Given the description of an element on the screen output the (x, y) to click on. 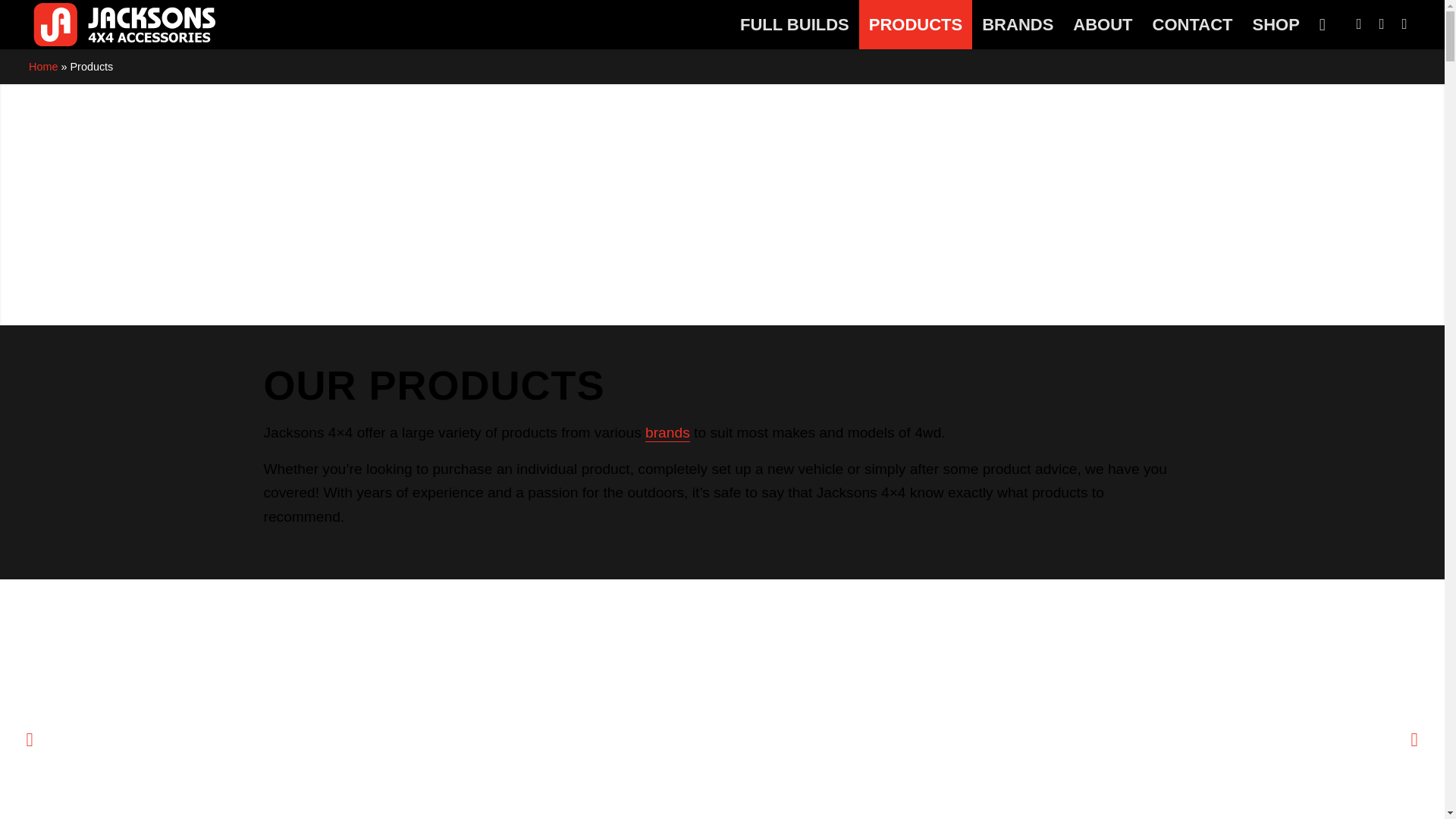
Home Element type: text (42, 66)
Instagram Element type: hover (1381, 23)
ABOUT Element type: text (1102, 24)
PRODUCTS Element type: text (915, 24)
FULL BUILDS Element type: text (794, 24)
Facebook Element type: hover (1358, 23)
BRANDS Element type: text (1017, 24)
brands Element type: text (667, 432)
Next Element type: text (1414, 739)
Youtube Element type: hover (1404, 23)
Previous Element type: text (30, 739)
CONTACT Element type: text (1192, 24)
SHOP Element type: text (1275, 24)
